Given the description of an element on the screen output the (x, y) to click on. 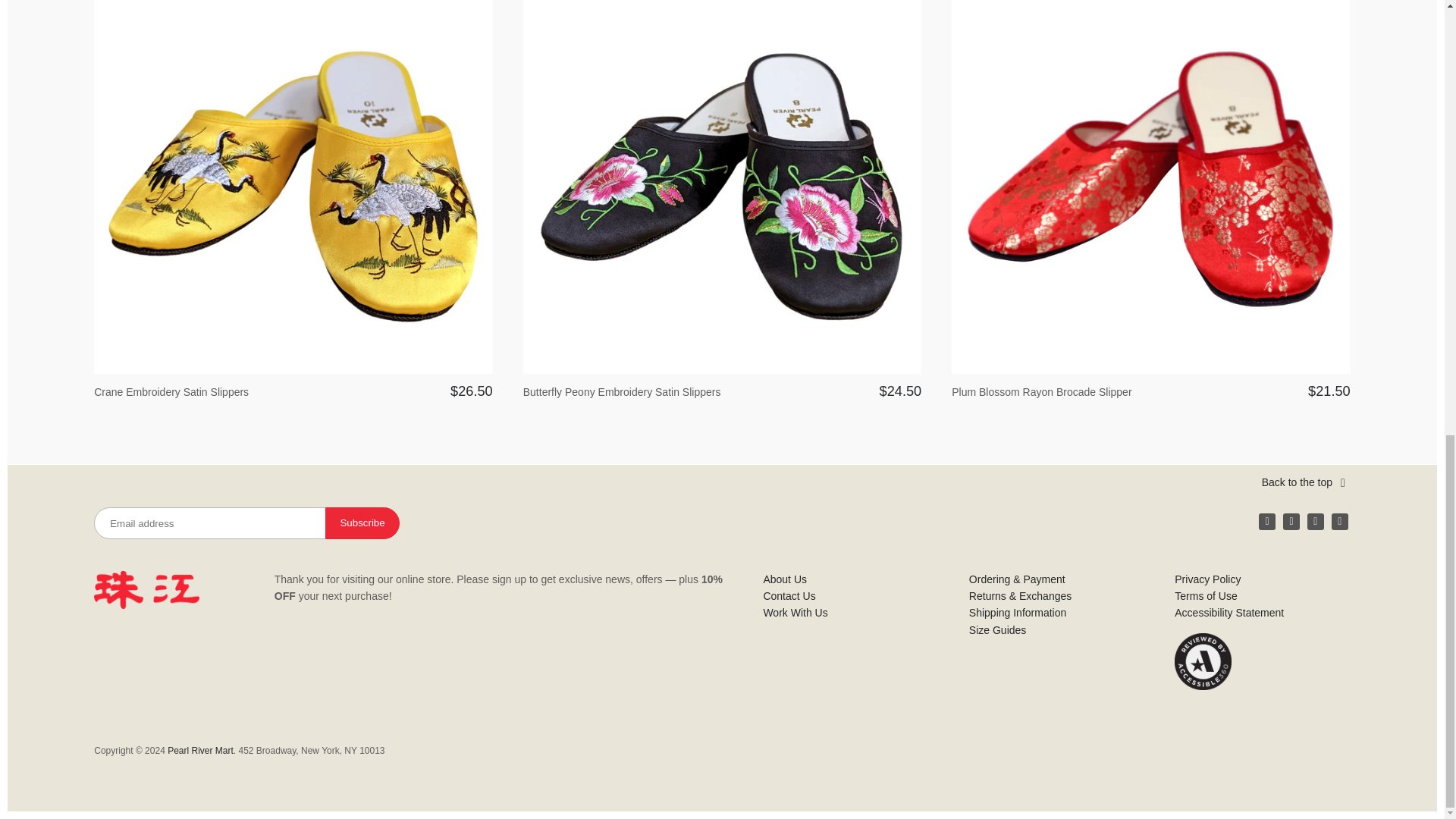
Instagram (1291, 521)
Twitter (1315, 521)
Facebook (1267, 521)
Subscribe (361, 522)
